Given the description of an element on the screen output the (x, y) to click on. 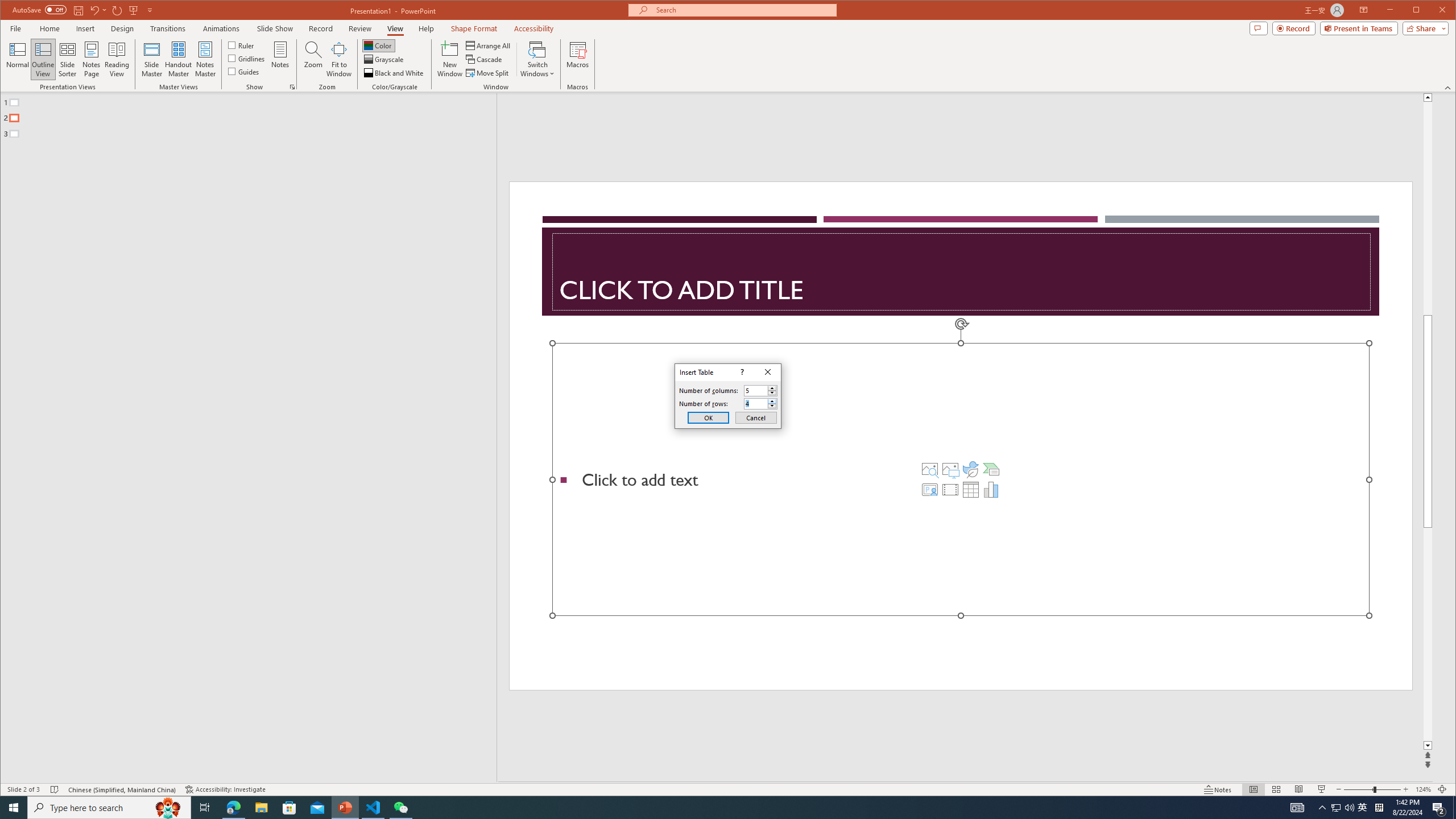
Guides (243, 70)
WeChat - 1 running window (400, 807)
Stock Images (929, 469)
Maximize (1432, 11)
